Given the description of an element on the screen output the (x, y) to click on. 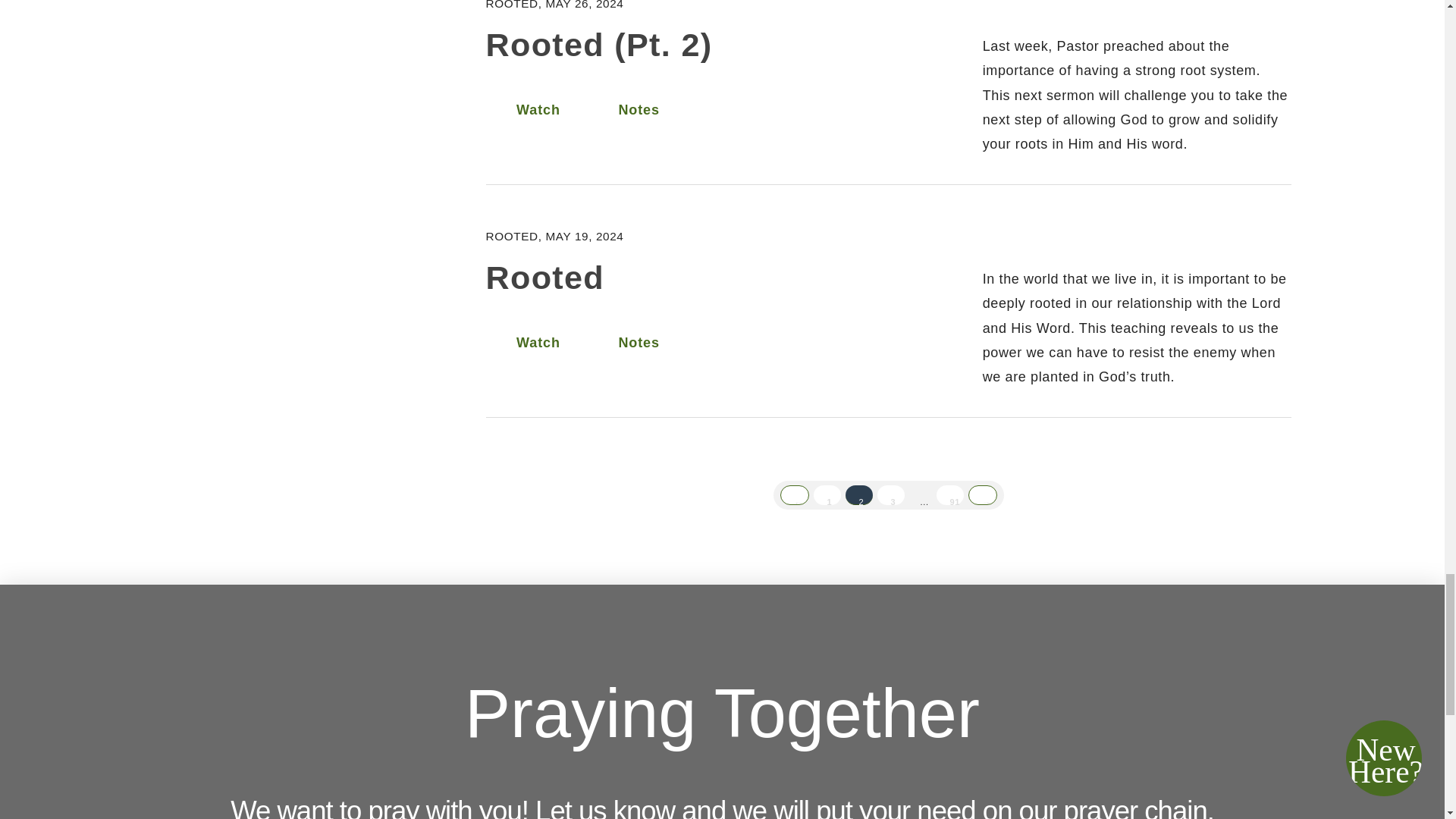
3 (890, 495)
Rooted (545, 277)
1 (827, 495)
Last Page (949, 495)
Watch (523, 109)
